Given the description of an element on the screen output the (x, y) to click on. 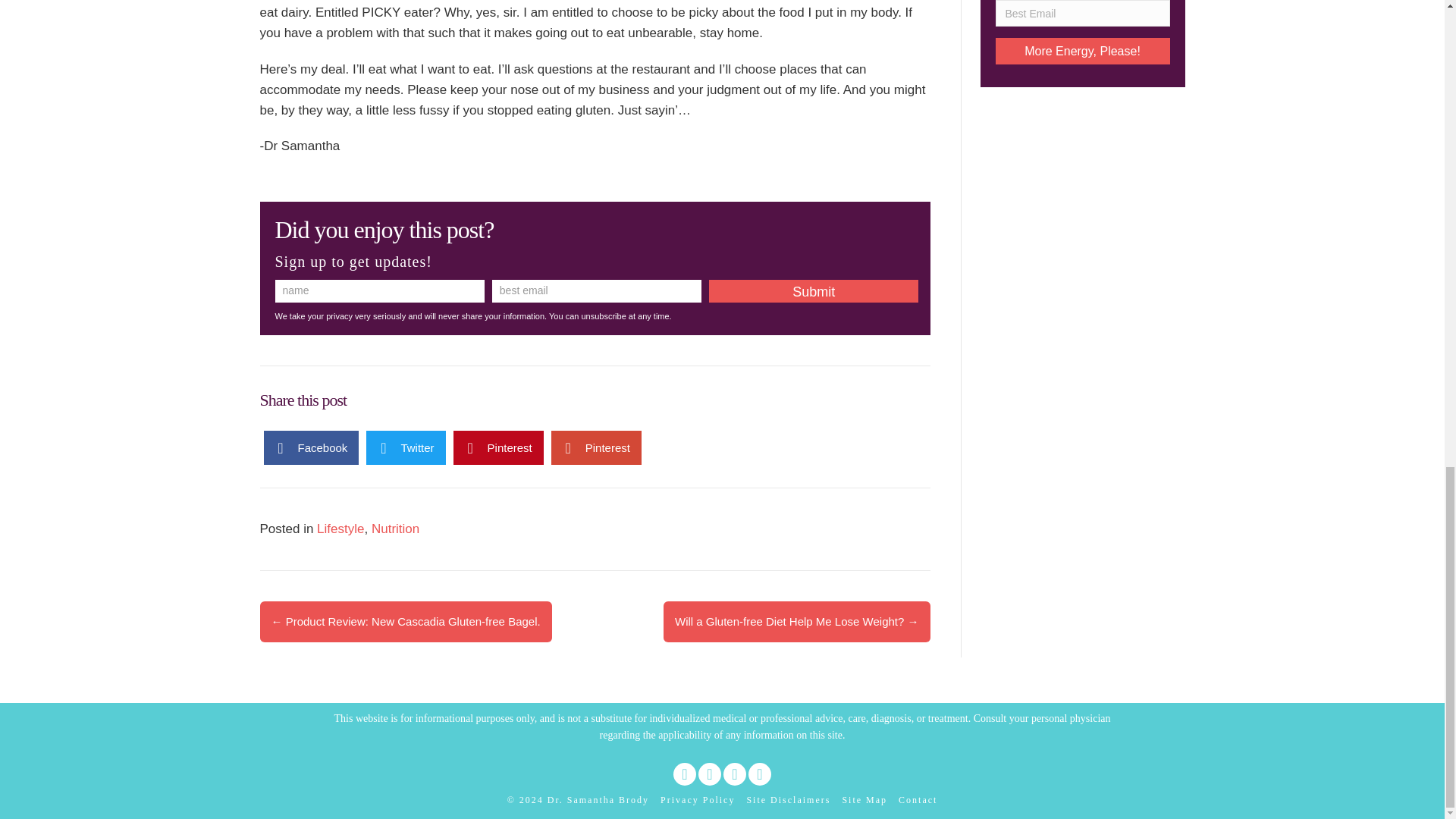
Facebook (311, 447)
Submit (813, 291)
Pinterest (596, 447)
Pinterest (734, 773)
Facebook (683, 773)
Nutrition (395, 528)
LinkedIn (709, 773)
Twitter (405, 447)
Dr. Samantha Holistic Medicine Site Map (863, 800)
Instagram (759, 773)
